Given the description of an element on the screen output the (x, y) to click on. 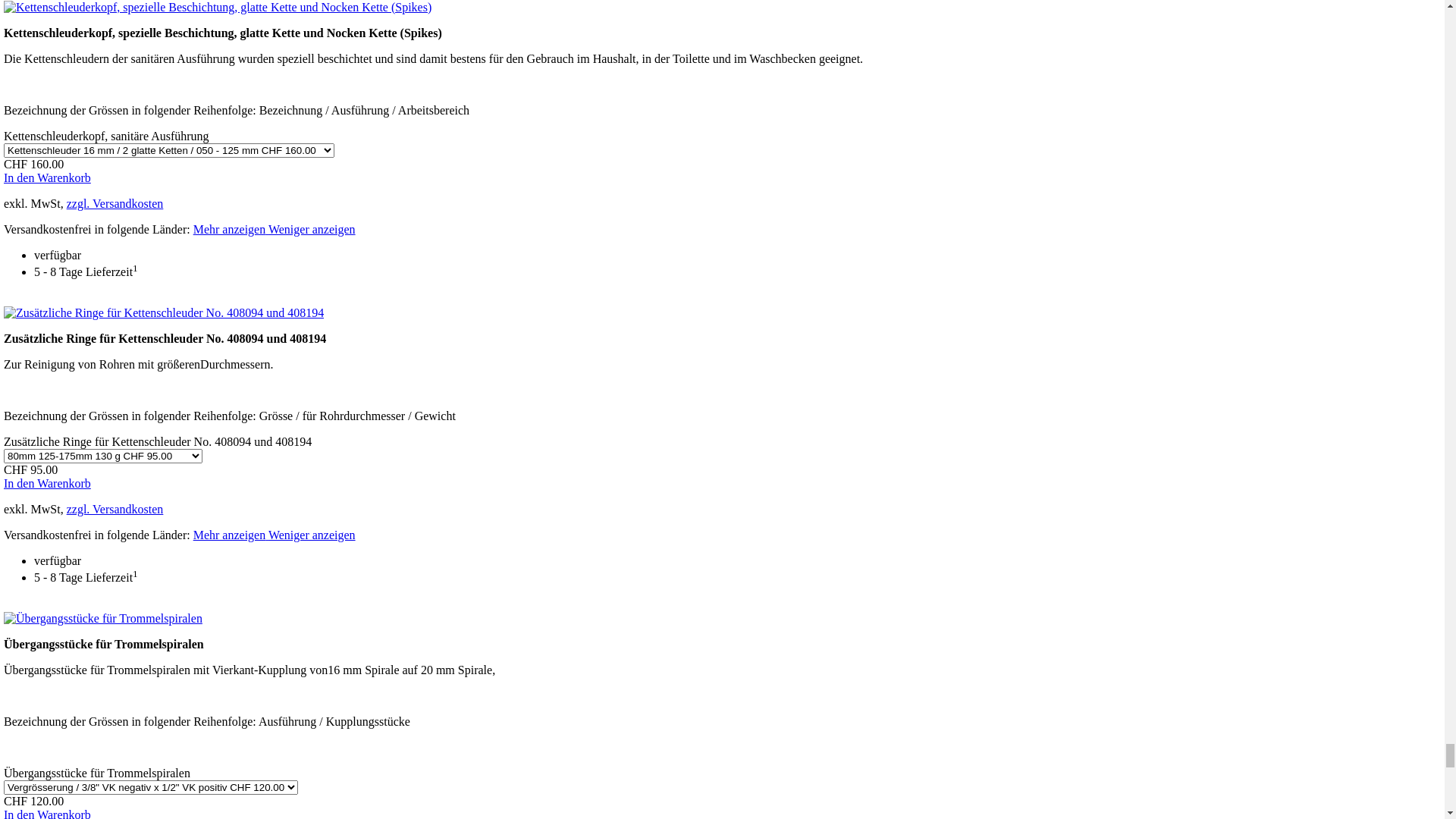
ONLINE SHOP Element type: text (69, 59)
AKTIONEN Element type: text (61, 263)
Hartmetallwerkzeug Element type: text (53, 536)
Hartmetallbohrkopf Element type: text (51, 645)
Kettenschleuder ohne Ring Element type: text (69, 754)
KOMBI-SETS Element type: text (66, 331)
WILLKOMMEN Element type: text (73, 18)
KONTAKT Element type: text (58, 45)
Neue Seite Element type: text (56, 426)
DIENSTLEISTUNGEN Element type: text (89, 31)
Occasion Element type: text (52, 399)
NEWS Element type: text (47, 249)
Sicherheitsbedarf Element type: text (72, 413)
SPIRALEN Element type: text (58, 290)
MASCHINEN Element type: text (66, 276)
WARENKORB Element type: text (68, 344)
WERKZEUGE Element type: text (68, 304)
